Given the description of an element on the screen output the (x, y) to click on. 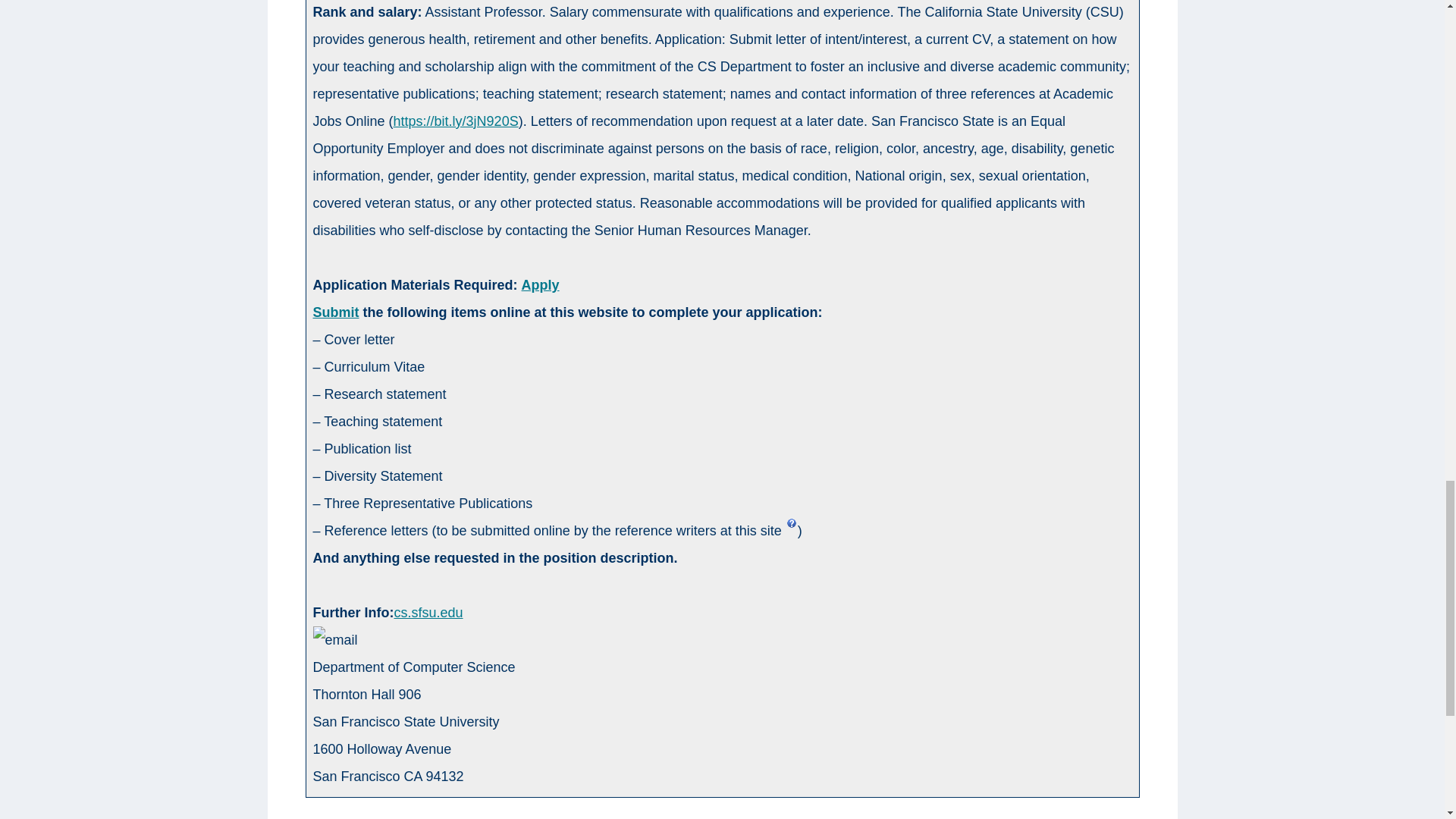
Apply (540, 284)
Submit (335, 312)
cs.sfsu.edu (428, 612)
